Given the description of an element on the screen output the (x, y) to click on. 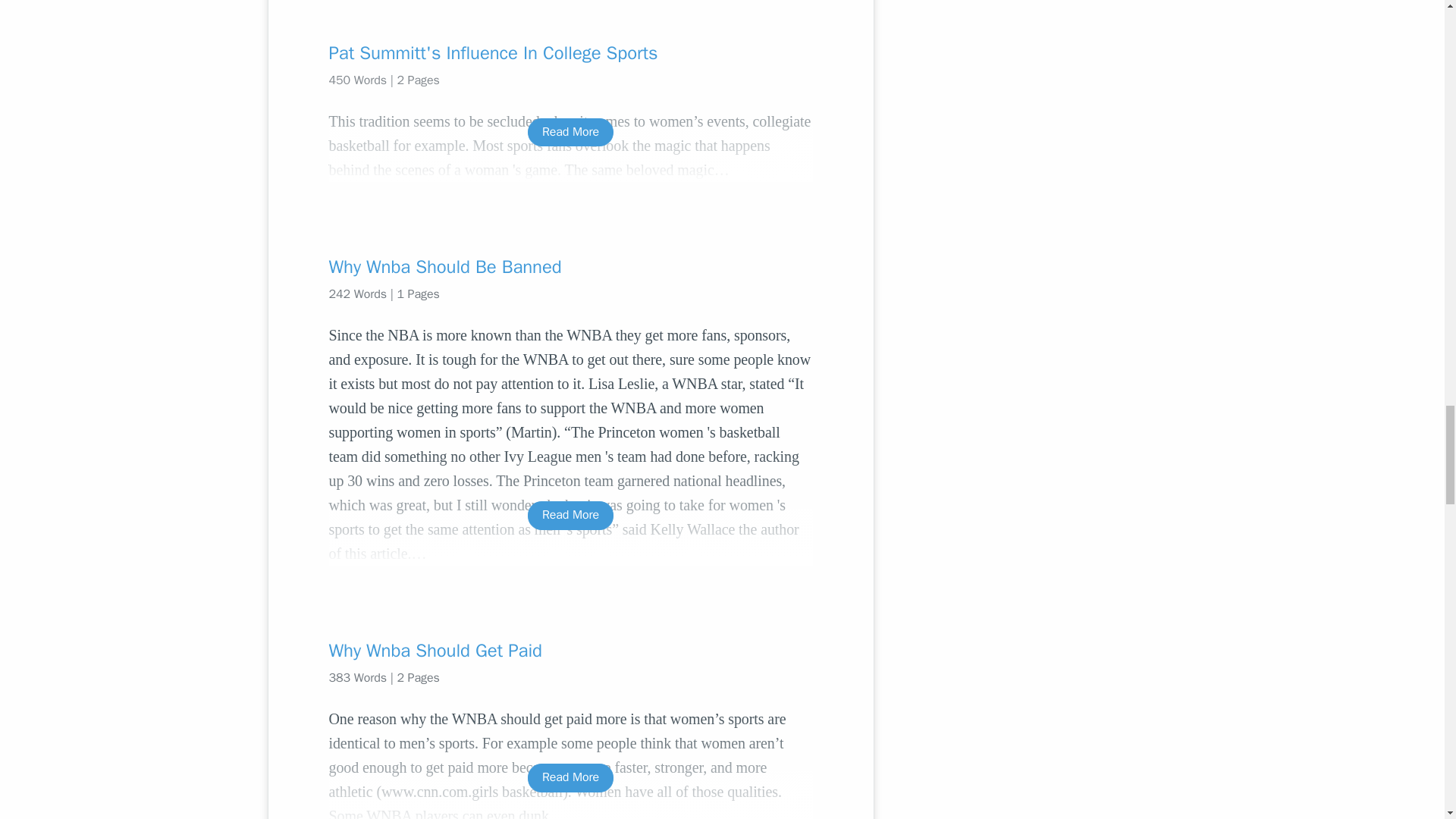
Read More (569, 131)
Read More (569, 515)
Why Wnba Should Be Banned (570, 266)
Pat Summitt's Influence In College Sports (570, 52)
Read More (569, 777)
Why Wnba Should Get Paid (570, 650)
